Given the description of an element on the screen output the (x, y) to click on. 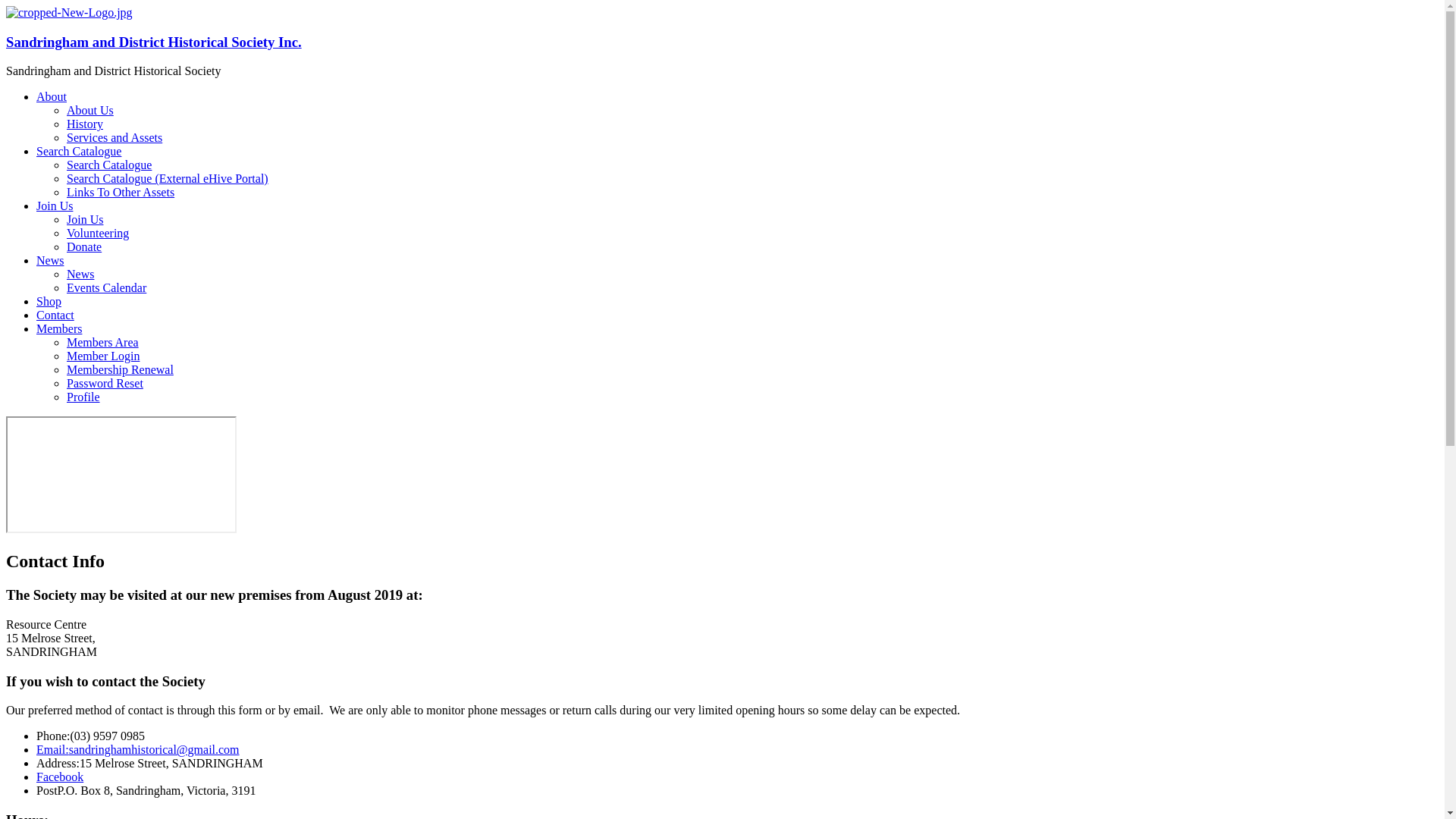
15 Melrose Street, SANDRINGHAM Element type: hover (121, 474)
Members Element type: text (58, 328)
Join Us Element type: text (54, 205)
Sandringham and District Historical Society Inc. Element type: text (153, 42)
Services and Assets Element type: text (114, 137)
Password Reset Element type: text (104, 382)
Links To Other Assets Element type: text (120, 191)
About Element type: text (51, 96)
News Element type: text (49, 260)
Join Us Element type: text (84, 219)
Members Area Element type: text (102, 341)
Facebook Element type: text (59, 776)
Contact Element type: text (55, 314)
Donate Element type: text (83, 246)
Search Catalogue Element type: text (108, 164)
Search Catalogue Element type: text (78, 150)
Volunteering Element type: text (97, 232)
Email:sandringhamhistorical@gmail.com Element type: text (137, 749)
News Element type: text (80, 273)
Membership Renewal Element type: text (119, 369)
History Element type: text (84, 123)
Member Login Element type: text (102, 355)
About Us Element type: text (89, 109)
Profile Element type: text (83, 396)
Search Catalogue (External eHive Portal) Element type: text (167, 178)
Events Calendar Element type: text (106, 287)
Sandringham and District Historical Society Inc. Element type: hover (69, 12)
Shop Element type: text (48, 300)
